Given the description of an element on the screen output the (x, y) to click on. 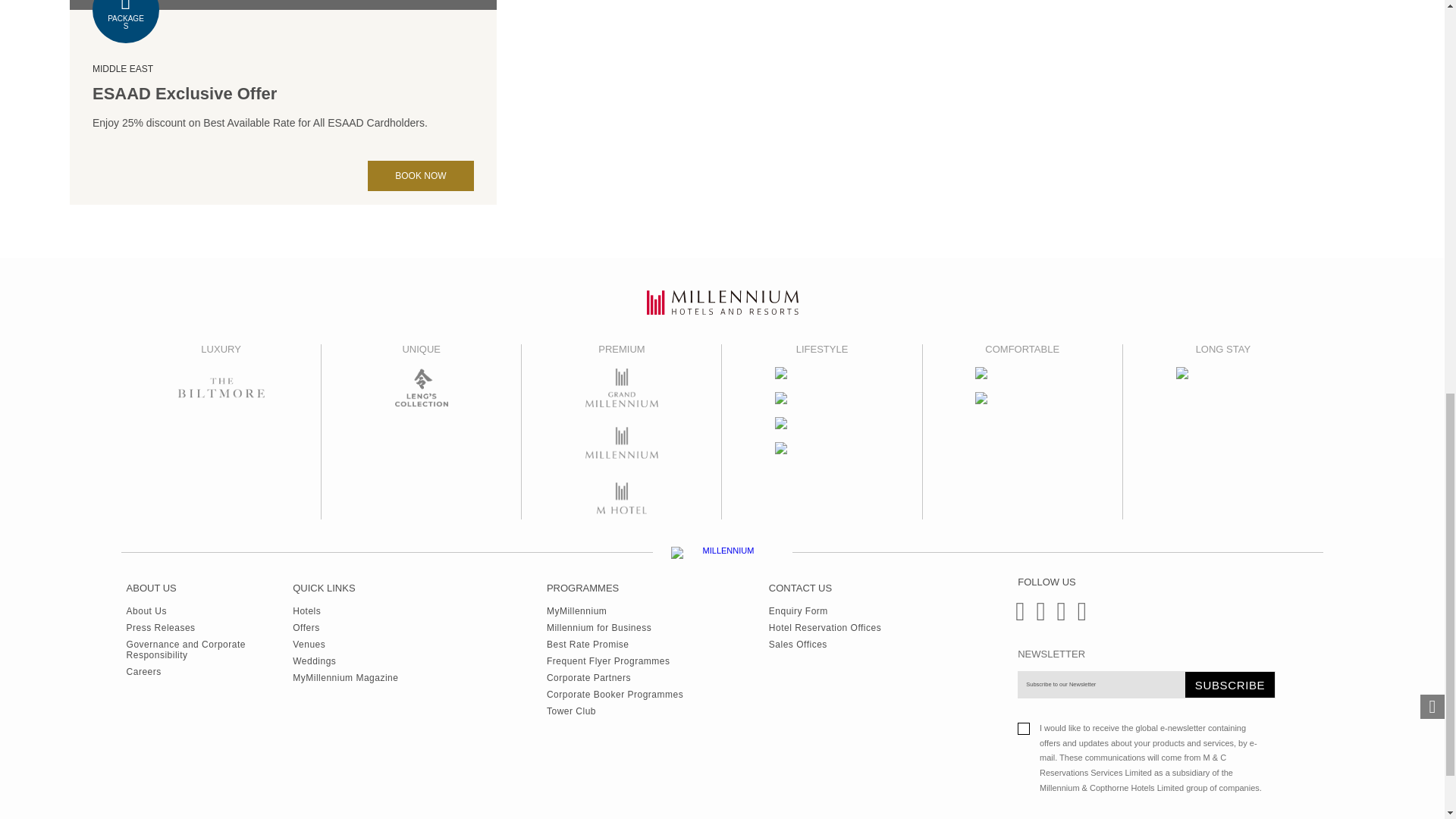
Twitter (1058, 617)
Millennium for Business (614, 624)
MyMillennium (614, 607)
Venues (344, 641)
Corporate Booker Programmes (614, 691)
Offers (344, 624)
Tower Club (614, 708)
Frequent Flyer Programmes (614, 658)
Careers (210, 668)
Best Rate Promise (614, 641)
